Given the description of an element on the screen output the (x, y) to click on. 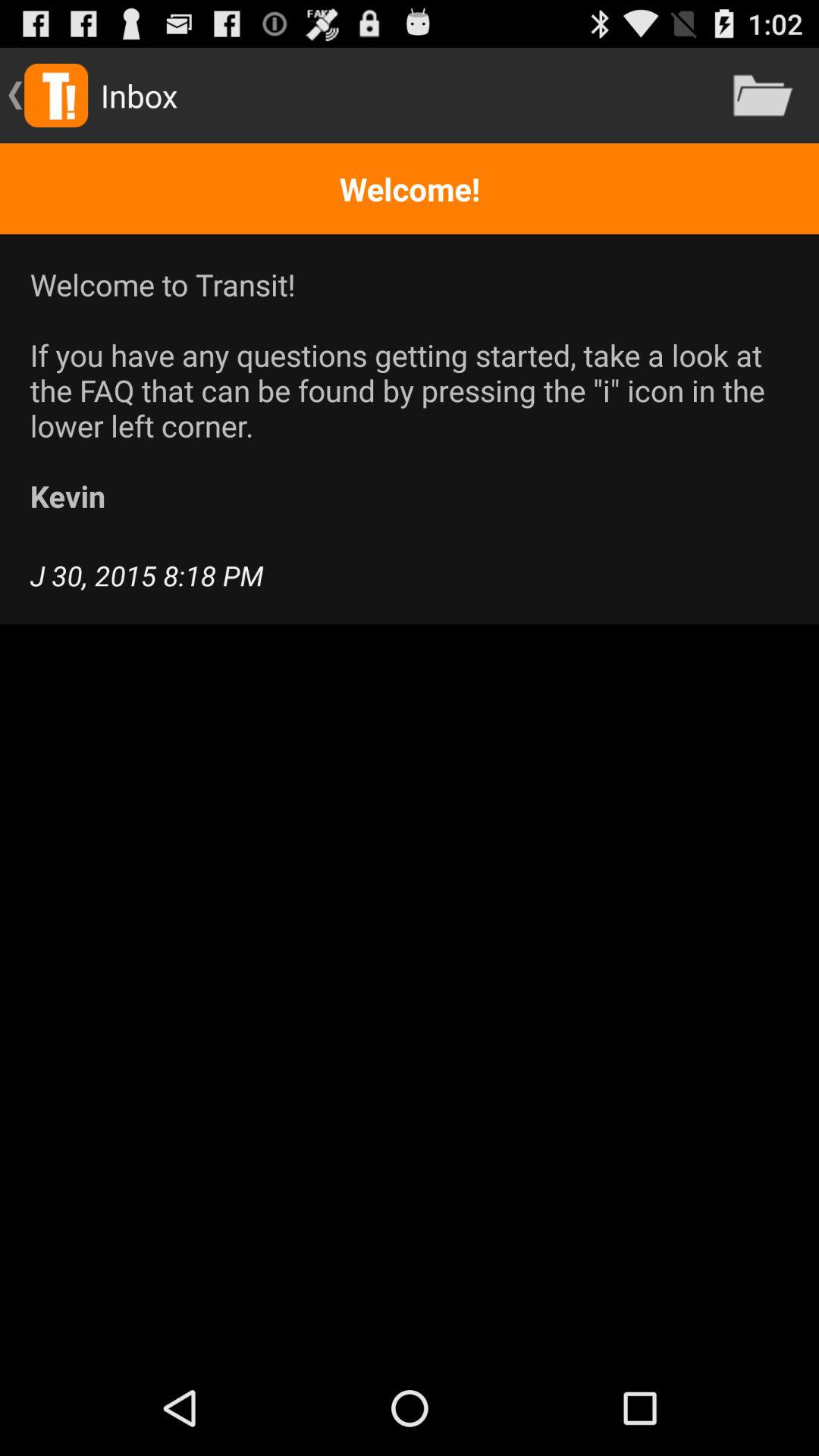
select the item below welcome! icon (409, 390)
